Given the description of an element on the screen output the (x, y) to click on. 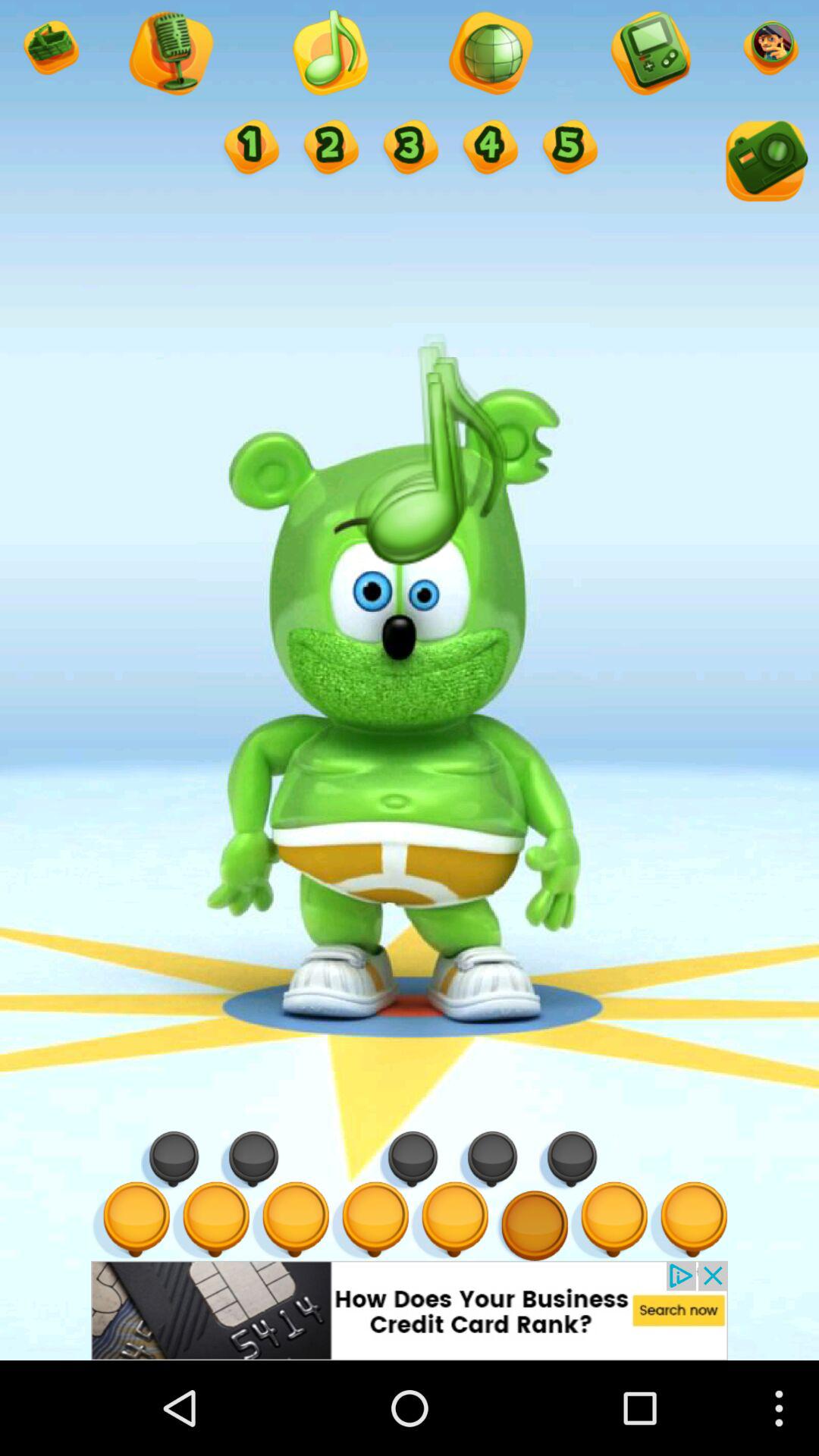
it is number 4 used to select a option as 4 (488, 149)
